Given the description of an element on the screen output the (x, y) to click on. 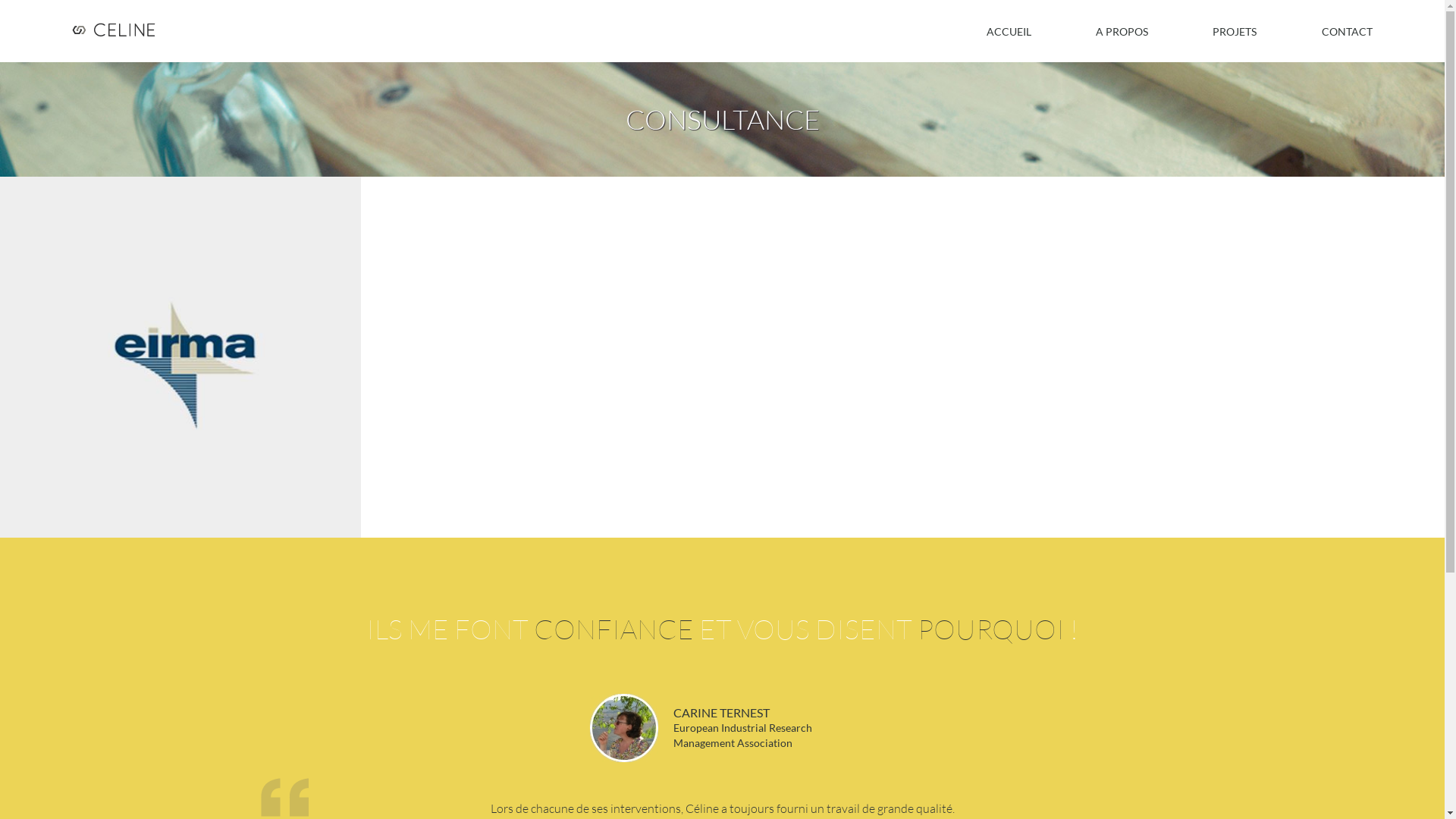
Eirma - logo Element type: hover (180, 356)
PROJETS Element type: text (1234, 35)
A PROPOS Element type: text (1121, 35)
CONTACT Element type: text (1346, 35)
Jump to navigation Element type: text (722, 2)
European Industrial Research Management Association Element type: text (742, 735)
Accueil Element type: hover (117, 30)
ACCUEIL Element type: text (1008, 35)
